Given the description of an element on the screen output the (x, y) to click on. 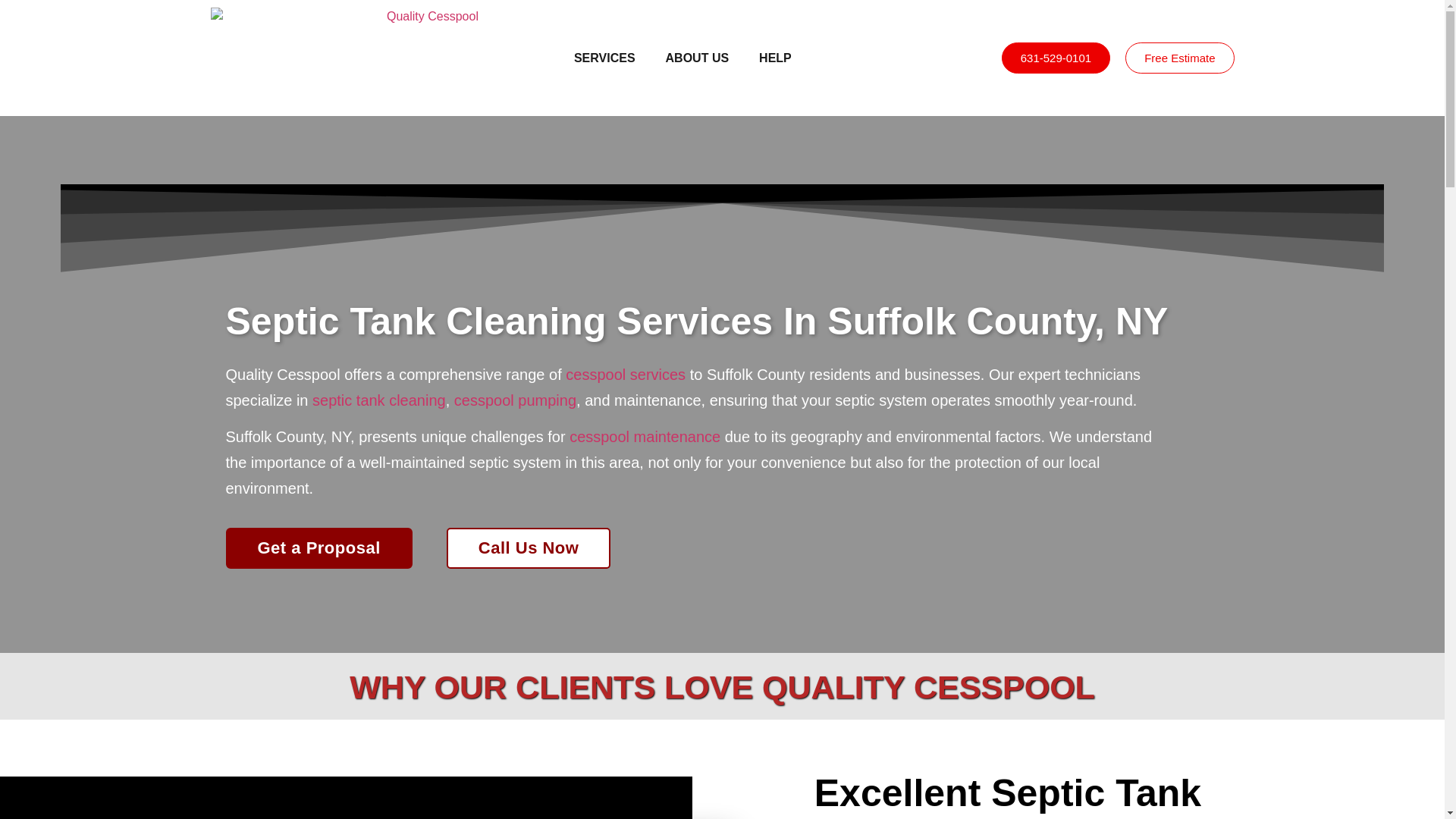
HELP (775, 58)
septic tank cleaning (379, 400)
cesspool services (625, 374)
cesspool maintenance (644, 436)
Cesspool Maintenance (625, 374)
631-529-0101 (1055, 57)
cesspool pumping (515, 400)
Call Us Now (528, 547)
Free Estimate (1179, 57)
Septic Tank Cleaning (379, 400)
SERVICES (604, 58)
Get a Proposal (318, 547)
Cesspool Pumping (515, 400)
ABOUT US (697, 58)
Cesspool Maintenance (644, 436)
